Given the description of an element on the screen output the (x, y) to click on. 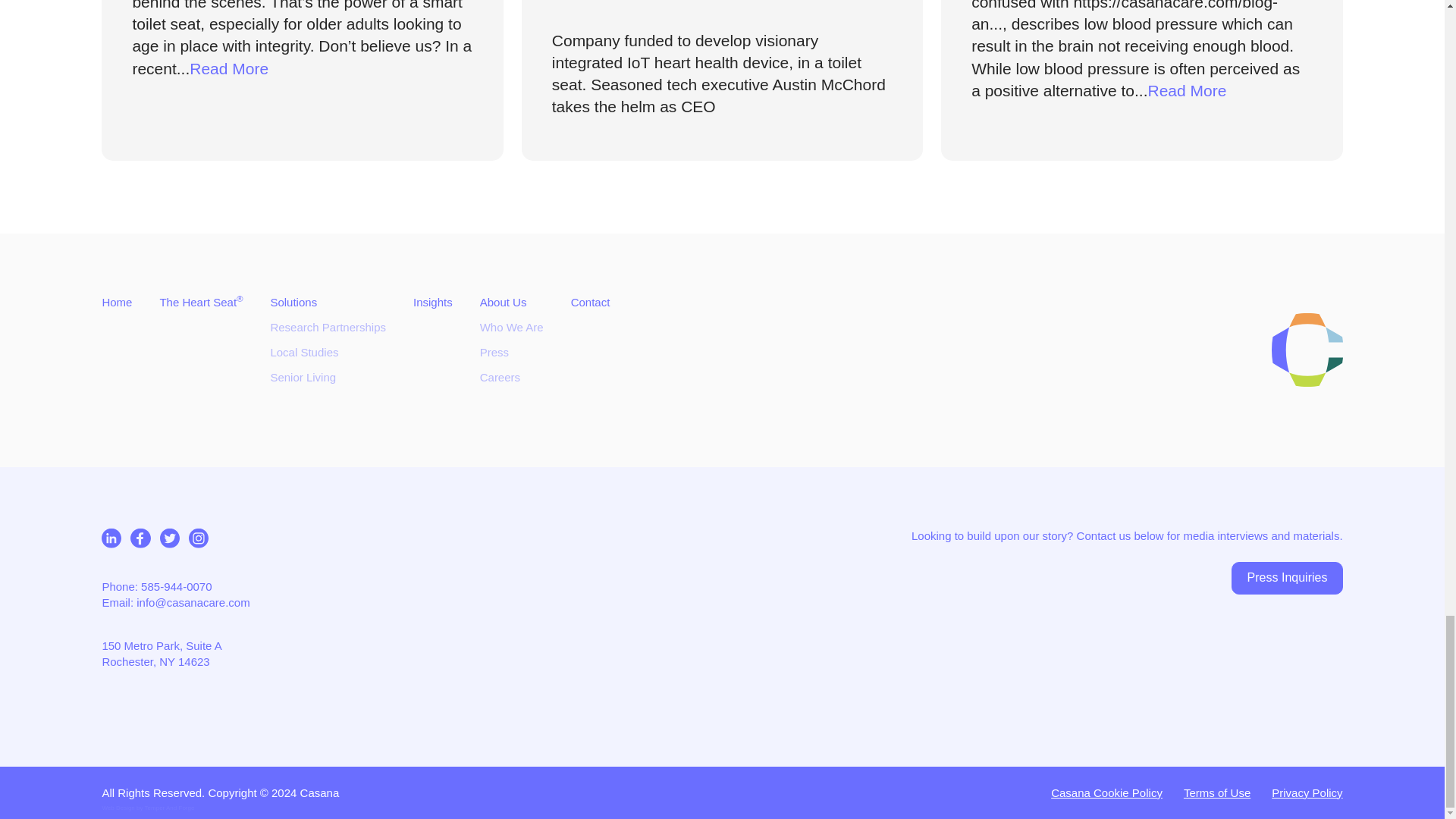
Research Partnerships (327, 326)
Solutions (293, 302)
Home (116, 302)
View (722, 80)
View (1141, 80)
Local Studies (303, 351)
View (301, 80)
